Given the description of an element on the screen output the (x, y) to click on. 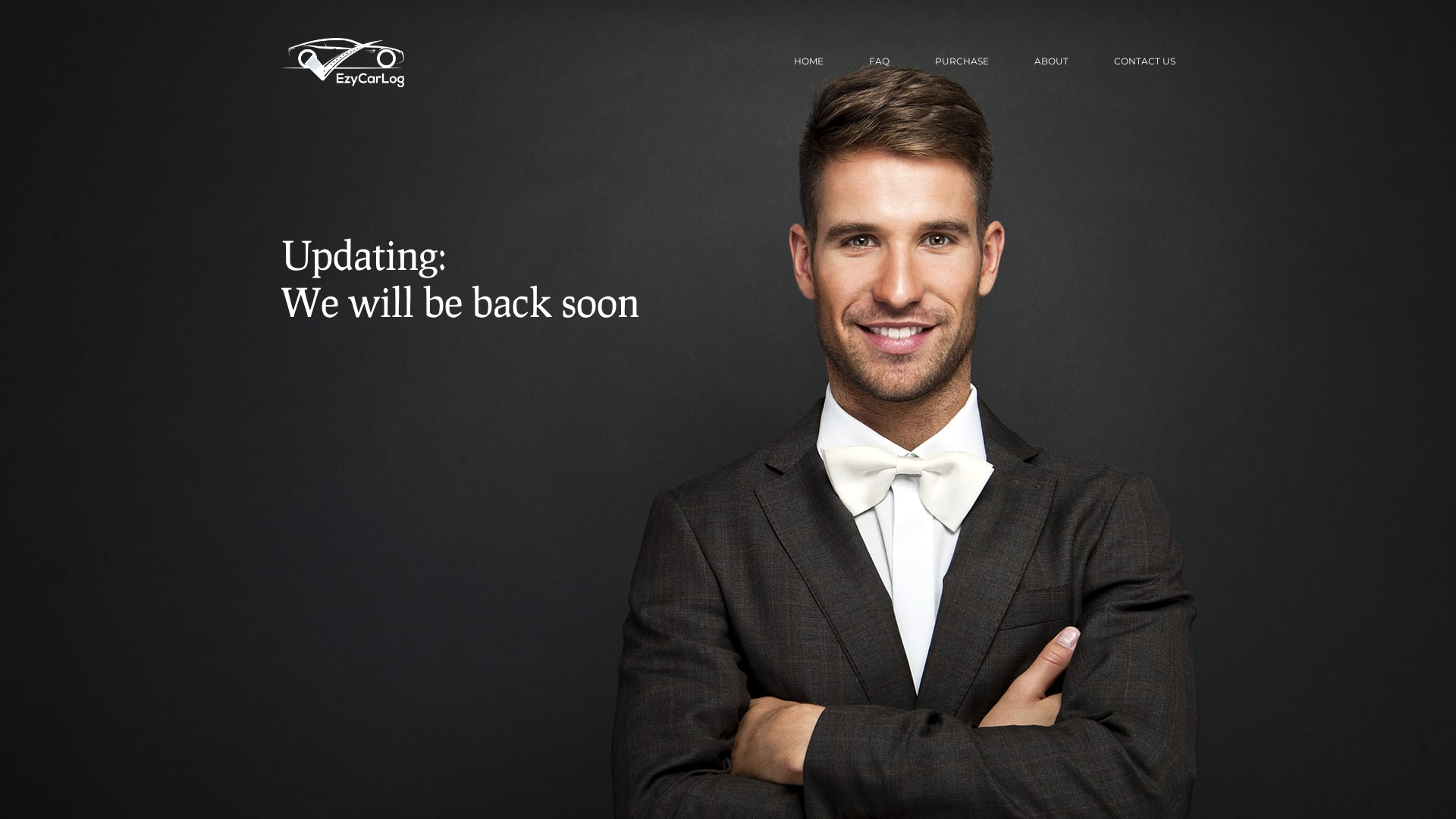
CONTACT US Element type: text (1144, 62)
ABOUT Element type: text (1051, 62)
PURCHASE Element type: text (961, 62)
FAQ Element type: text (879, 62)
HOME Element type: text (808, 62)
